Given the description of an element on the screen output the (x, y) to click on. 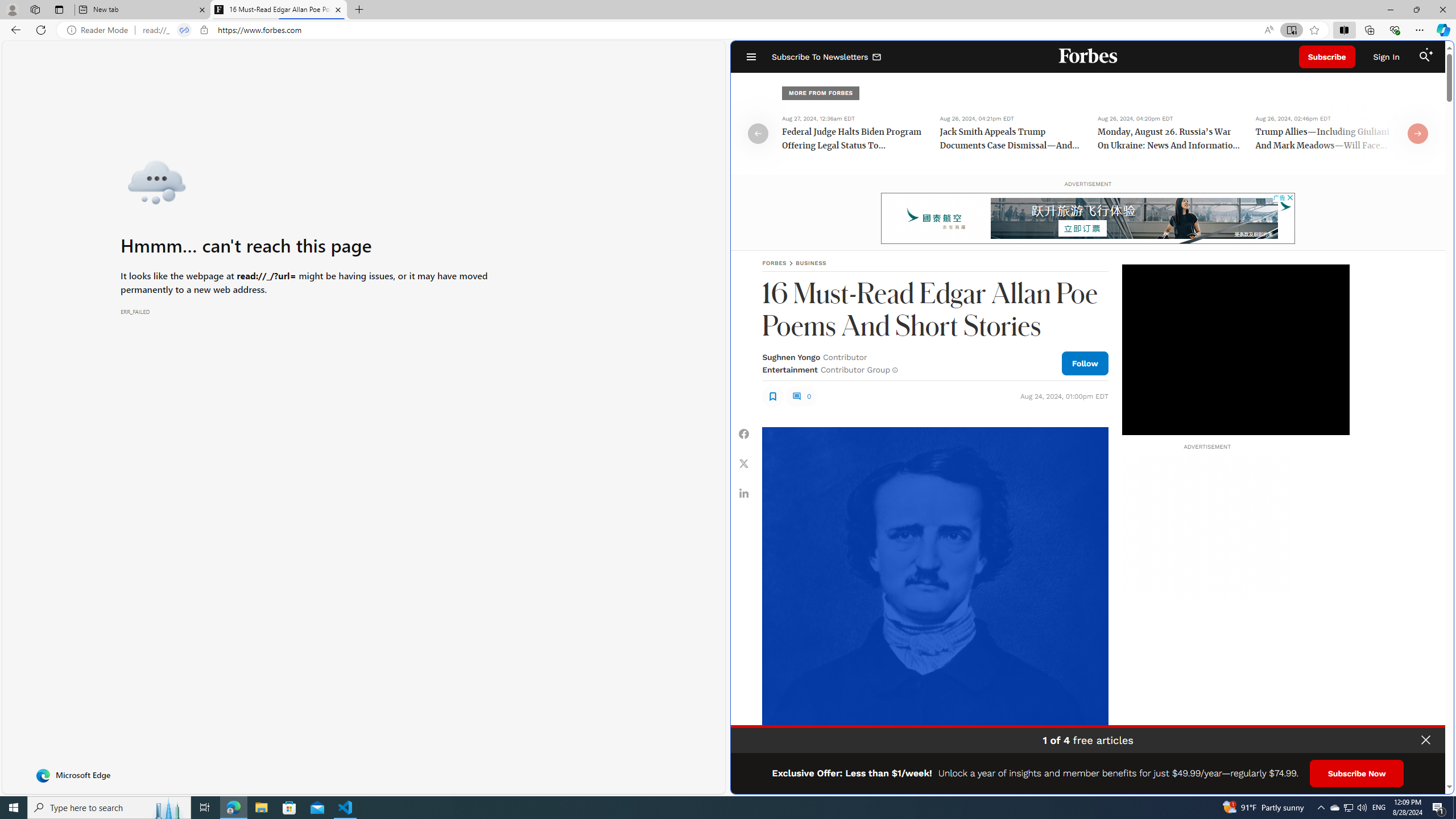
Tabs in split screen (184, 29)
Class: fs-icon fs-icon--xCorp (743, 463)
Share Twitter (743, 463)
Class: fs-icon fs-icon--info (894, 369)
Share Linkedin (743, 493)
Forbes Logo (1088, 56)
Subscribe Now (1356, 773)
Class: fs-icon fs-icon--linkedin (743, 493)
